Given the description of an element on the screen output the (x, y) to click on. 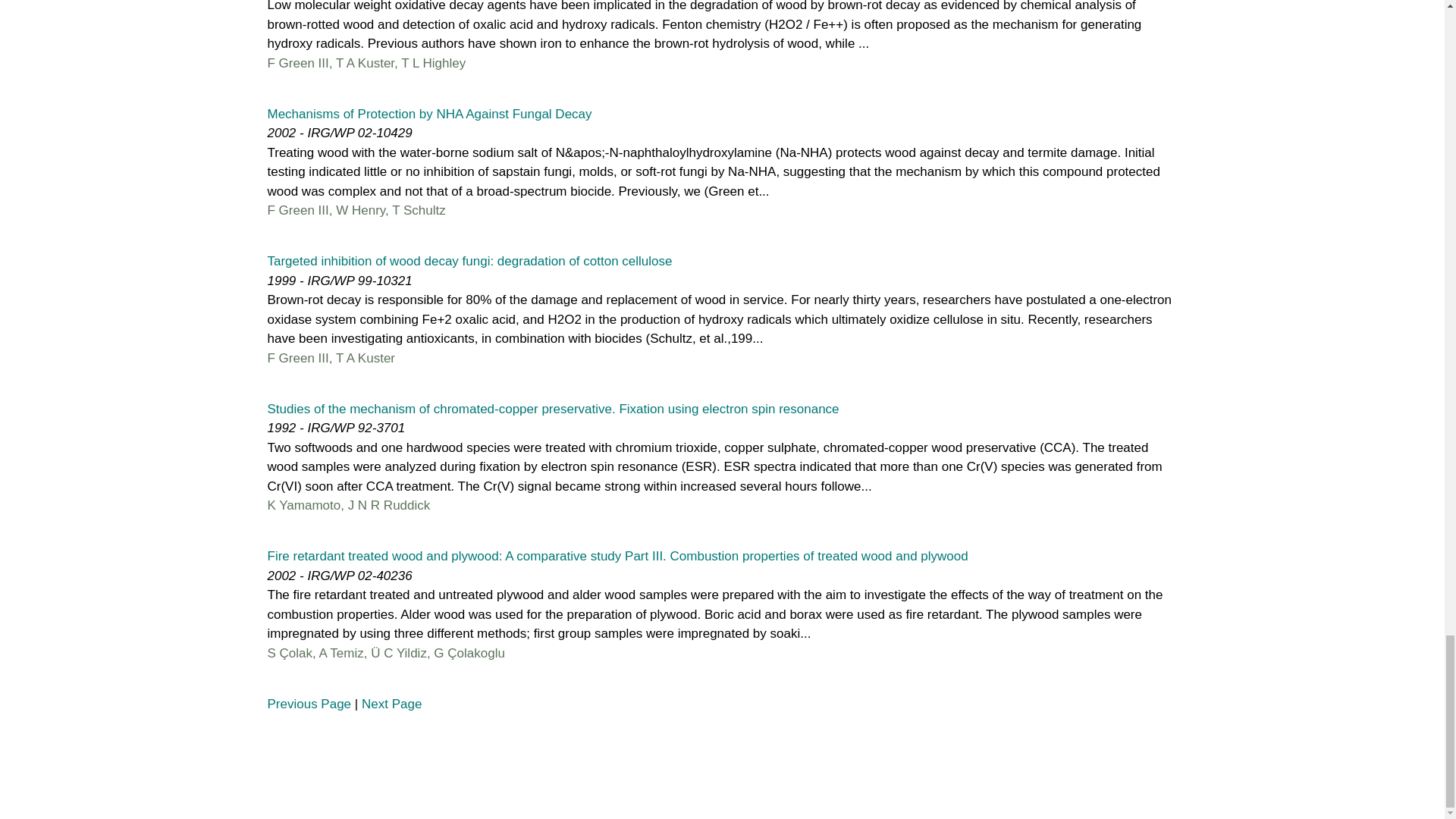
Mechanisms of Protection by NHA Against Fungal Decay (428, 113)
Next Page (391, 703)
Previous Page (308, 703)
